Given the description of an element on the screen output the (x, y) to click on. 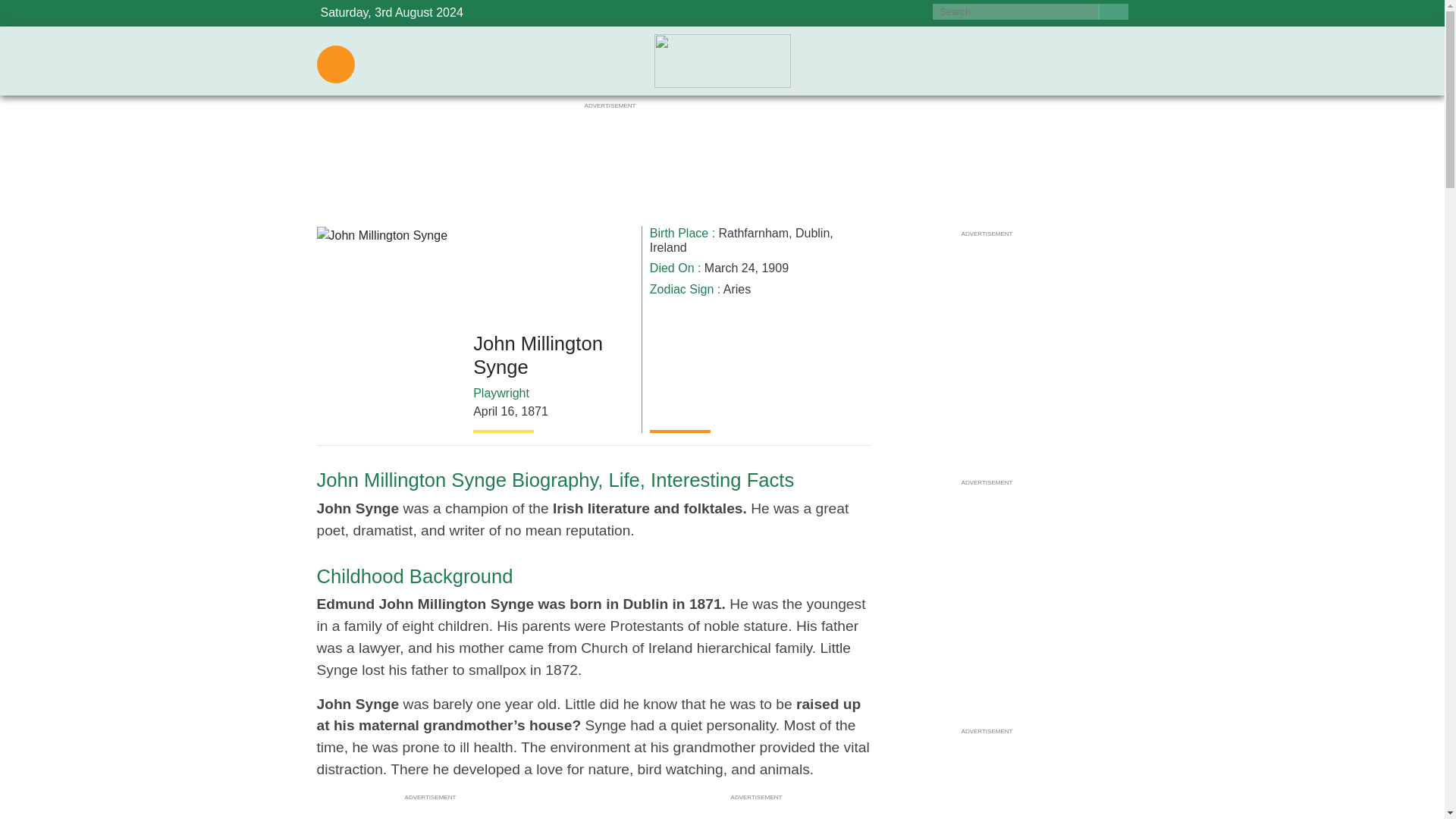
March 24 (729, 267)
Aries (737, 288)
1909 (775, 267)
Ireland (668, 246)
Rathfarnham (754, 232)
Dublin (811, 232)
Playwright (501, 392)
Zodiac Sign (681, 288)
April 16 (493, 410)
1871 (534, 410)
